Given the description of an element on the screen output the (x, y) to click on. 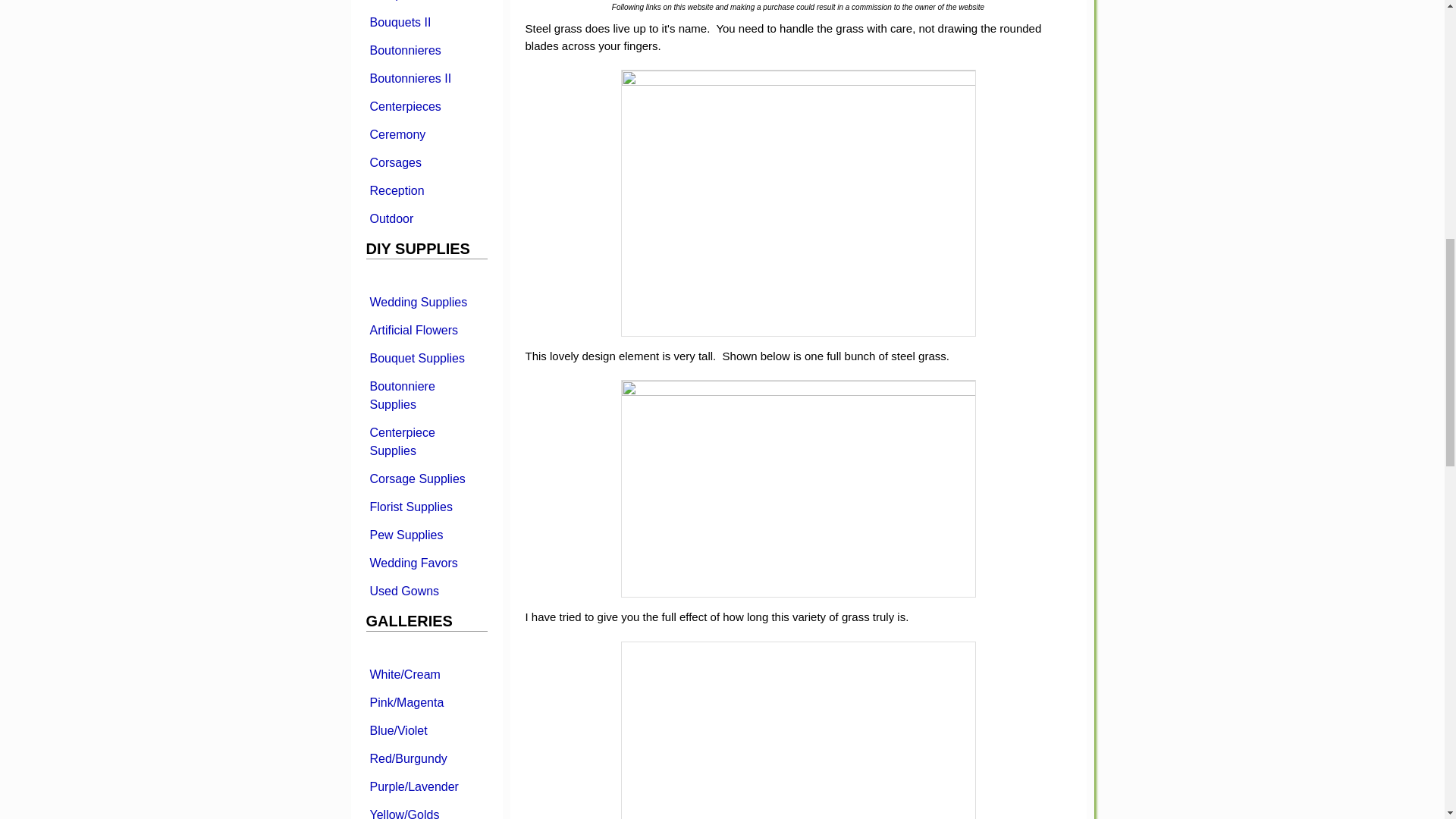
Pew Supplies (425, 534)
Bouquets II (425, 22)
Centerpiece Supplies (425, 442)
Wedding Favors (425, 563)
Ceremony (425, 134)
Florist Supplies (425, 507)
Centerpieces (425, 106)
Boutonniere Supplies (425, 394)
Bouquet Supplies (425, 358)
Reception (425, 190)
Used Gowns (425, 590)
Bouquets (425, 3)
Boutonnieres (425, 50)
Boutonnieres II (425, 77)
Outdoor (425, 218)
